Given the description of an element on the screen output the (x, y) to click on. 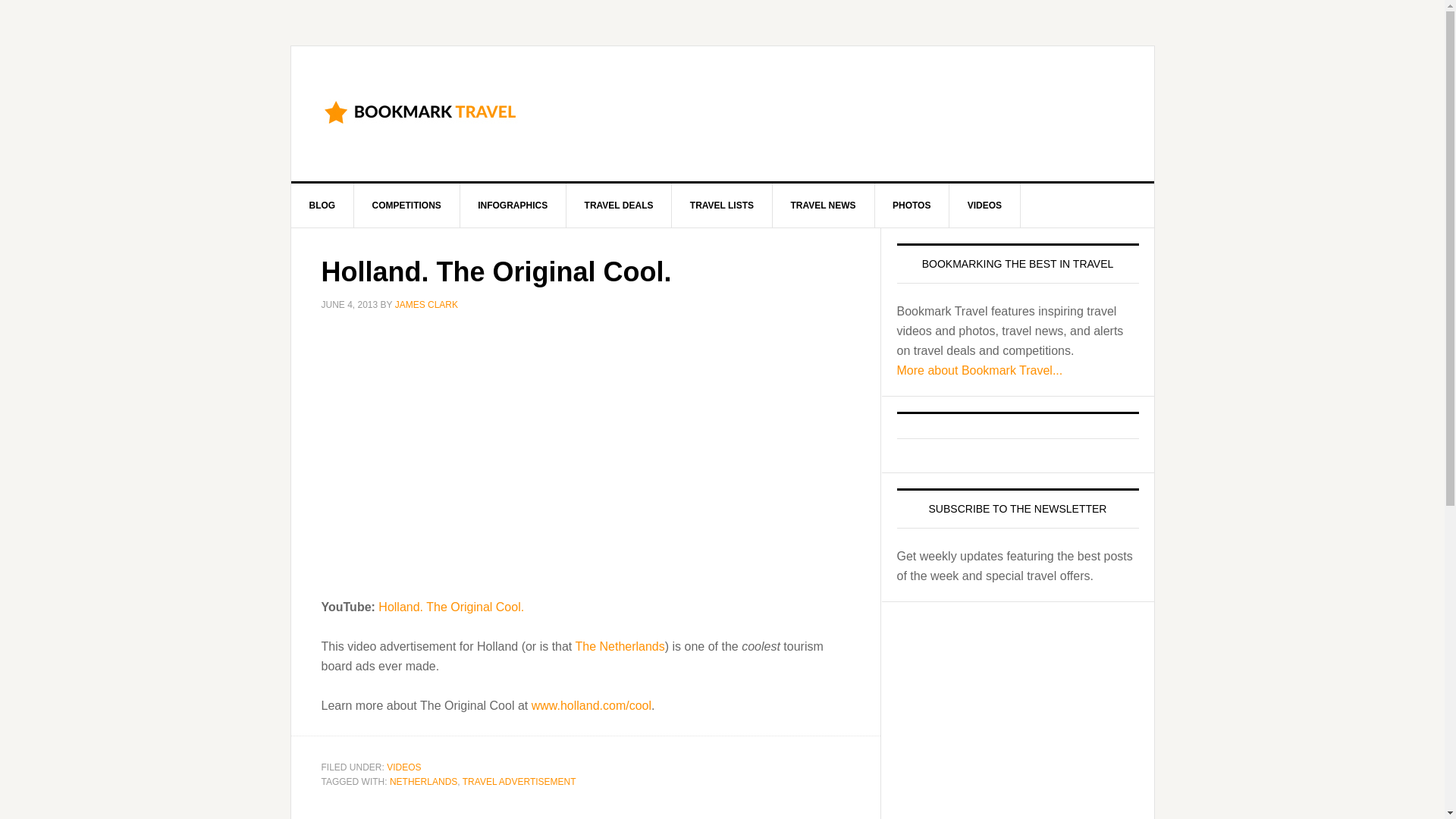
TRAVEL ADVERTISEMENT (519, 781)
COMPETITIONS (406, 205)
VIDEOS (403, 766)
Advertisement (848, 110)
Holland. The Original Cool. (451, 606)
BLOG (323, 205)
NETHERLANDS (423, 781)
BOOKMARK TRAVEL (419, 110)
JAMES CLARK (426, 304)
TRAVEL LISTS (722, 205)
More about Bookmark Travel... (979, 369)
PHOTOS (912, 205)
TRAVEL NEWS (823, 205)
TRAVEL DEALS (619, 205)
The Netherlands (619, 645)
